Given the description of an element on the screen output the (x, y) to click on. 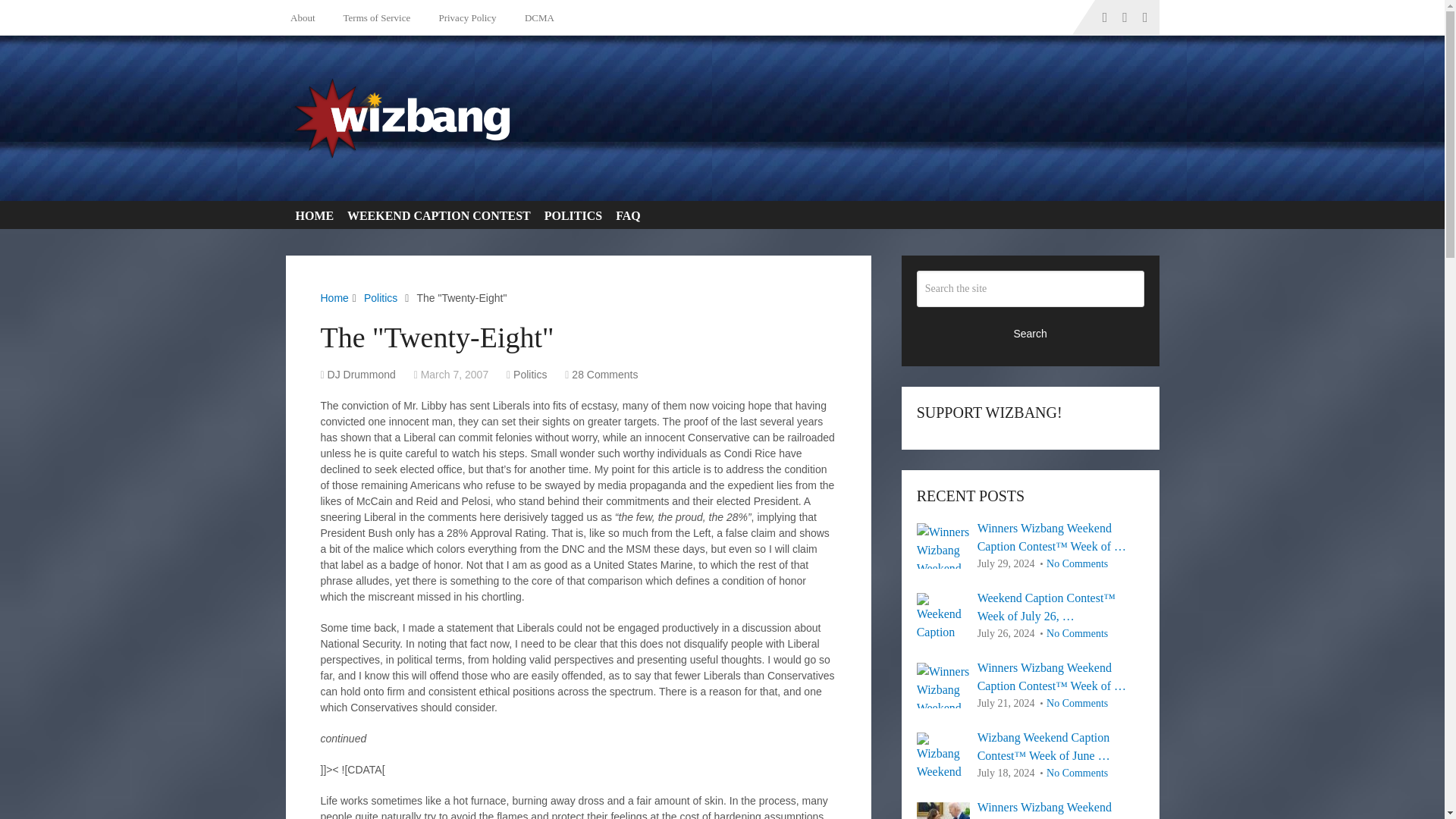
View all posts in Politics (530, 374)
Privacy Policy (464, 17)
Politics (530, 374)
28 Comments (604, 374)
FAQ (625, 216)
DCMA (537, 17)
WEEKEND CAPTION CONTEST (435, 216)
Terms of Service (374, 17)
Politics (380, 297)
HOME (311, 216)
Search (1030, 332)
About (305, 17)
DJ Drummond (361, 374)
Posts by DJ Drummond (361, 374)
POLITICS (569, 216)
